Given the description of an element on the screen output the (x, y) to click on. 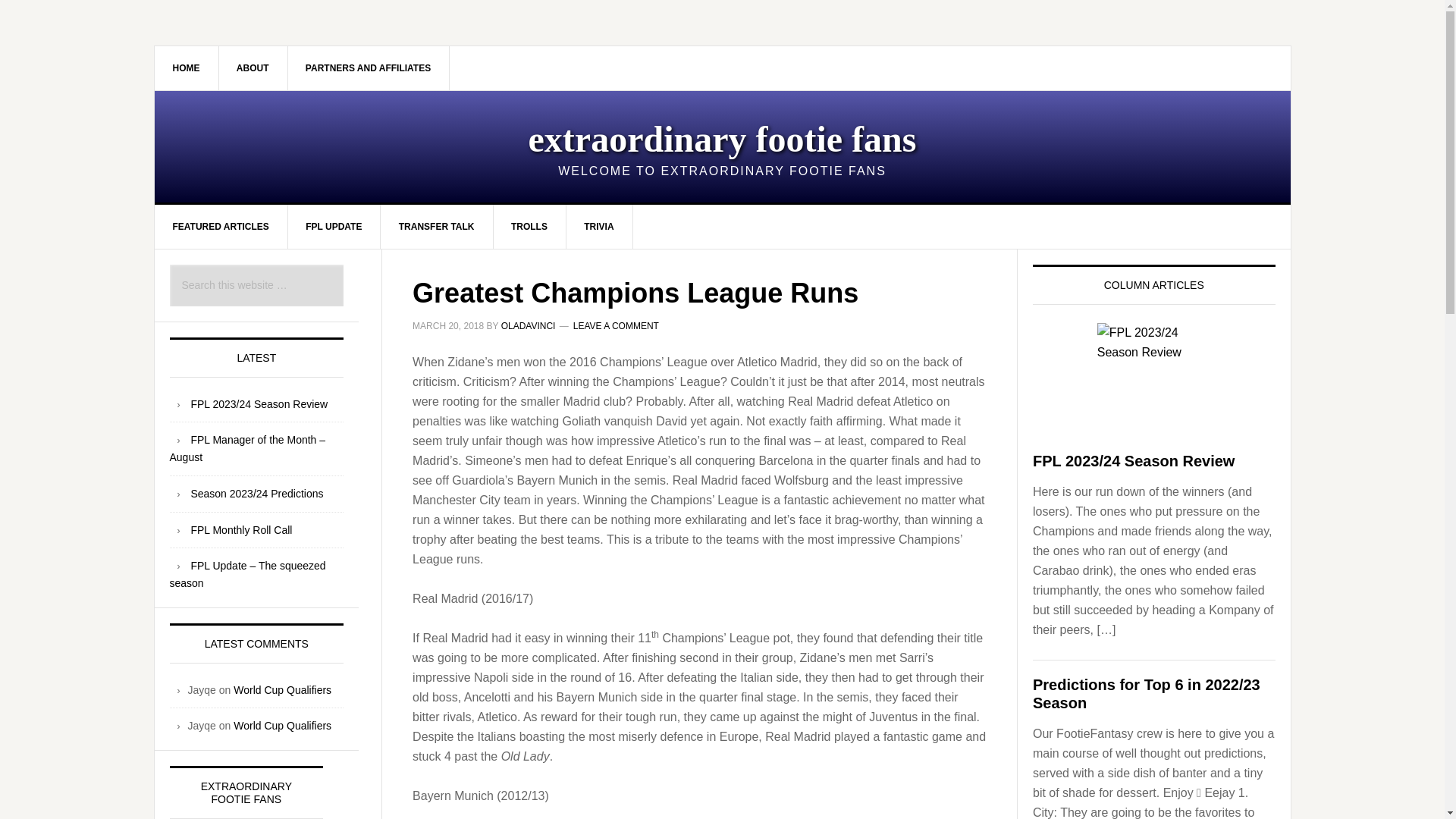
FPL Monthly Roll Call (241, 530)
FPL UPDATE (333, 226)
TRIVIA (598, 226)
extraordinary footie fans (722, 138)
World Cup Qualifiers (281, 725)
LEAVE A COMMENT (616, 326)
HOME (186, 67)
TRANSFER TALK (436, 226)
ABOUT (253, 67)
FEATURED ARTICLES (221, 226)
World Cup Qualifiers (281, 689)
PARTNERS AND AFFILIATES (367, 67)
TROLLS (529, 226)
OLADAVINCI (528, 326)
